Given the description of an element on the screen output the (x, y) to click on. 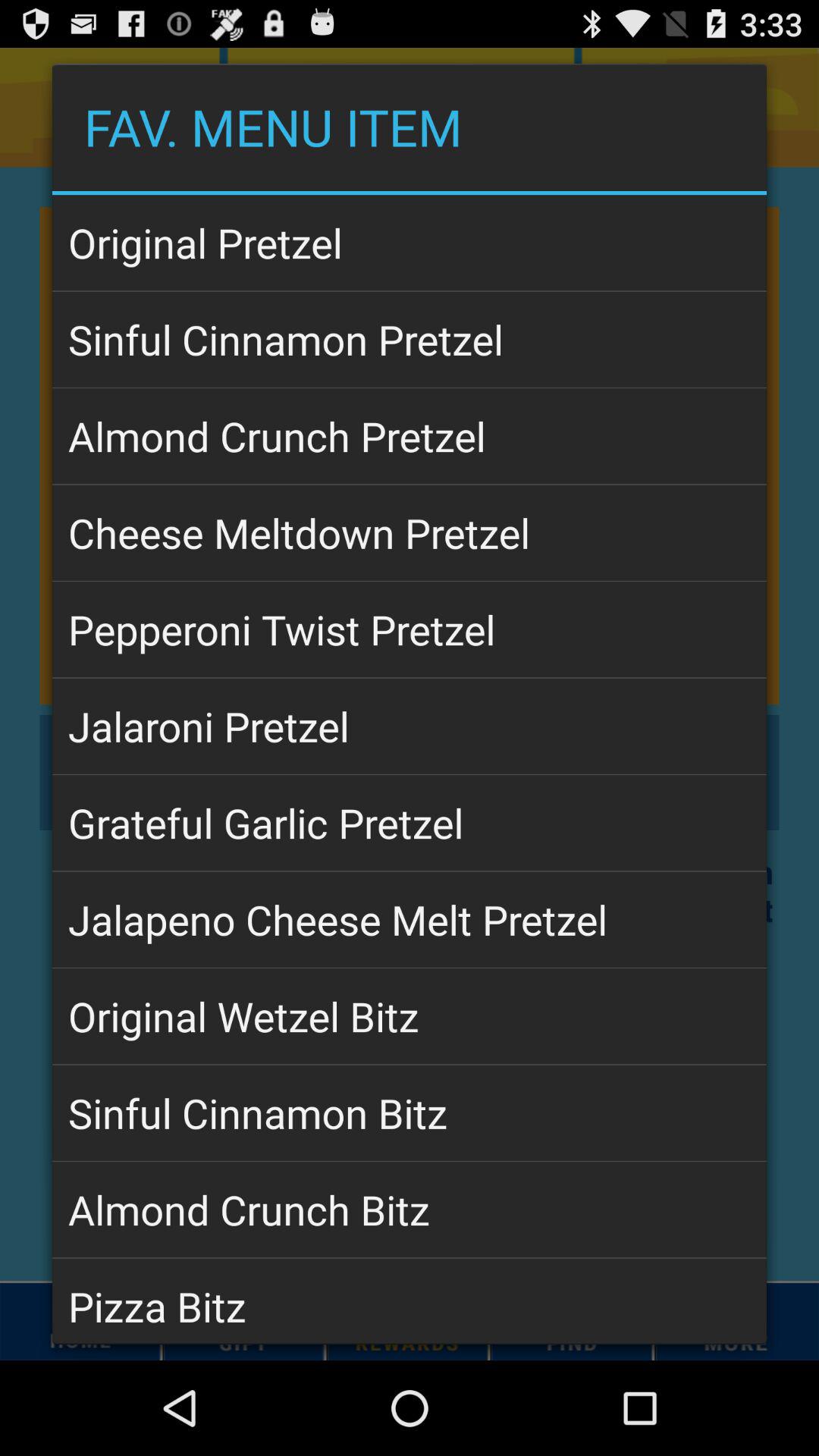
select the original wetzel bitz app (409, 1016)
